Given the description of an element on the screen output the (x, y) to click on. 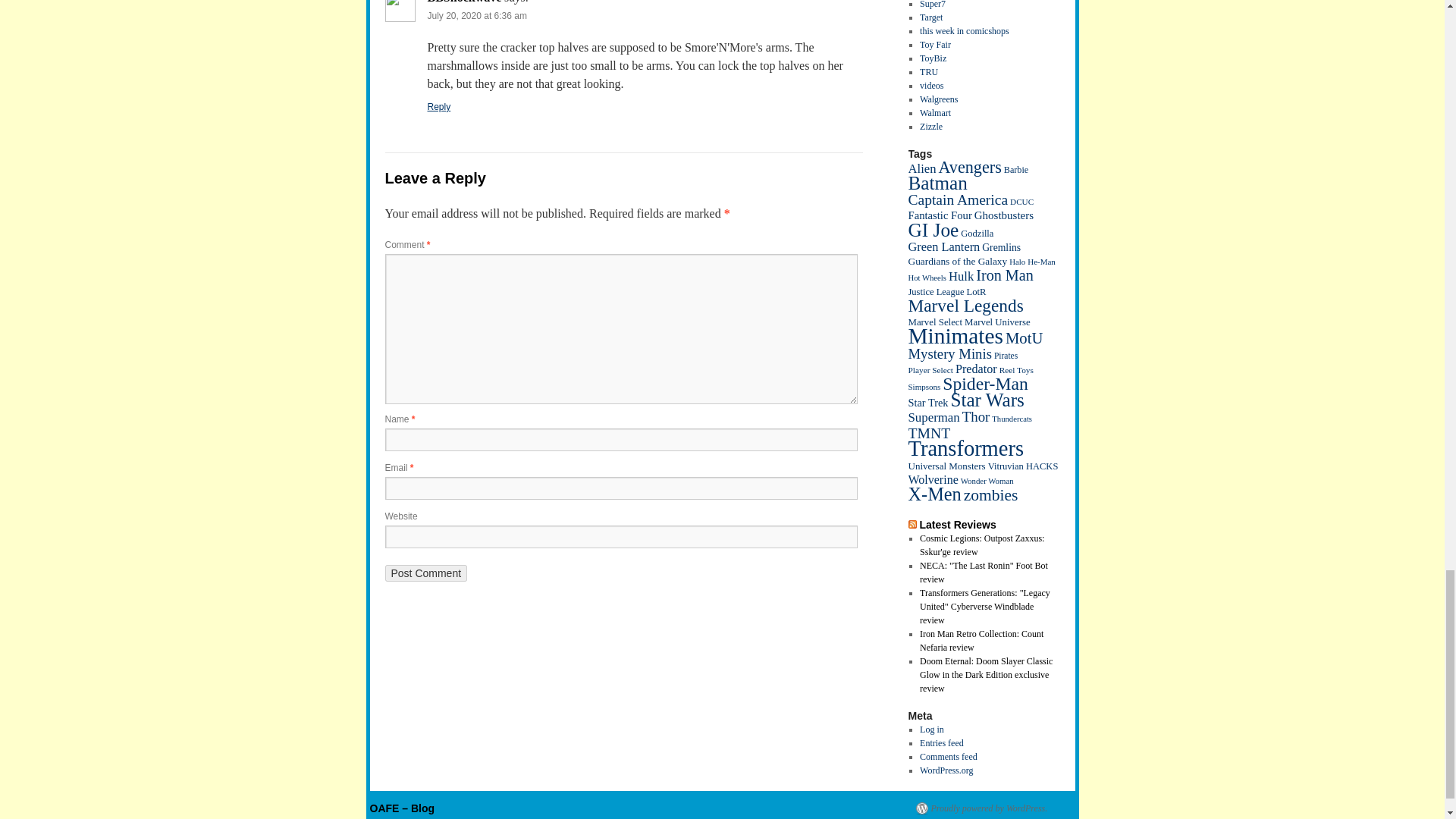
July 20, 2020 at 6:36 am (477, 15)
Reply (439, 106)
Post Comment (426, 573)
